Given the description of an element on the screen output the (x, y) to click on. 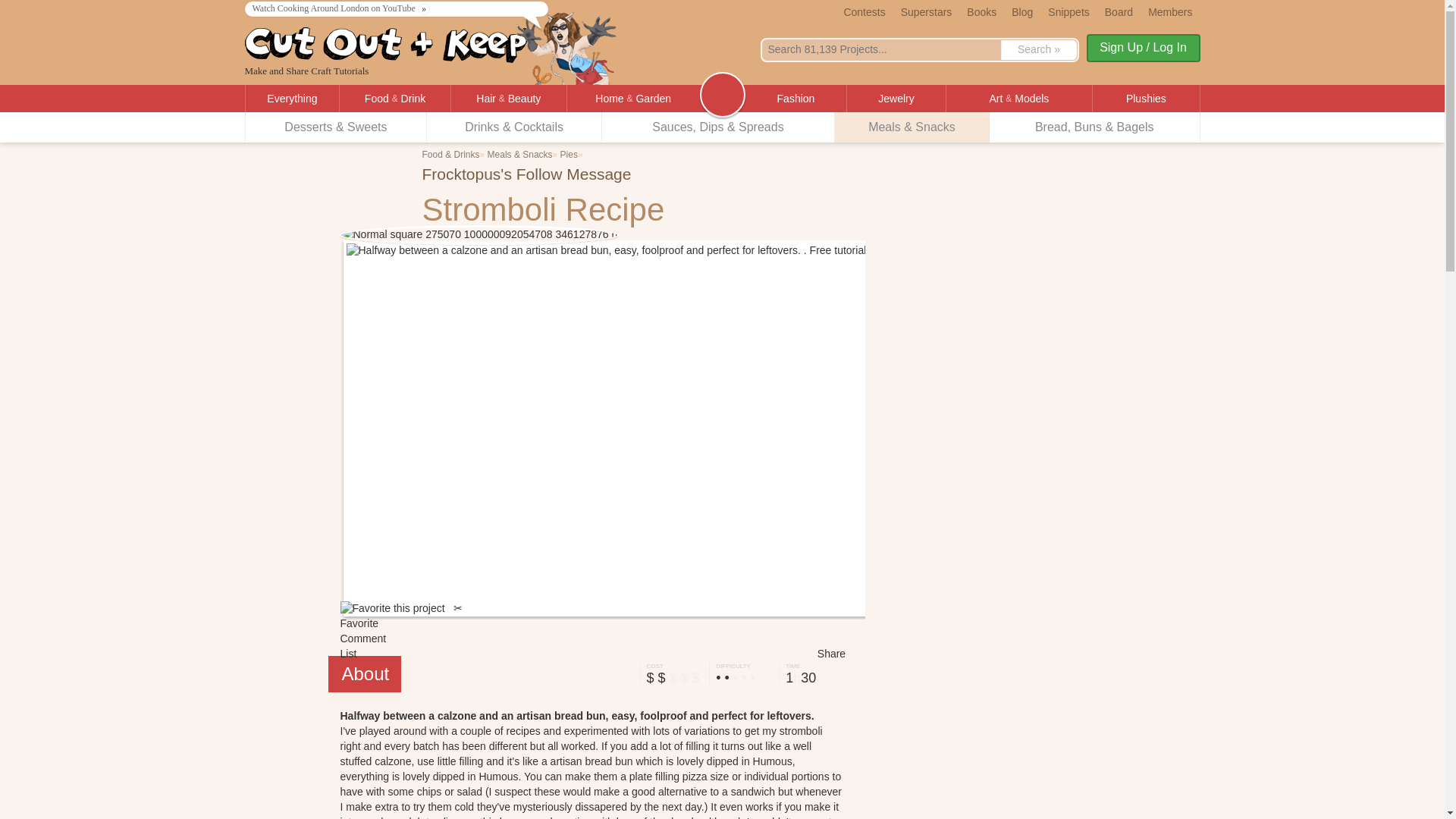
Board (1118, 10)
Books (981, 10)
Frocktopus on Twitter (696, 176)
Frocktopus on Instagram (678, 176)
Contests (863, 10)
Everything (292, 98)
Members (1169, 10)
Superstars (926, 10)
Hazel Dow on Facebook (641, 176)
Blog (1022, 10)
